Given the description of an element on the screen output the (x, y) to click on. 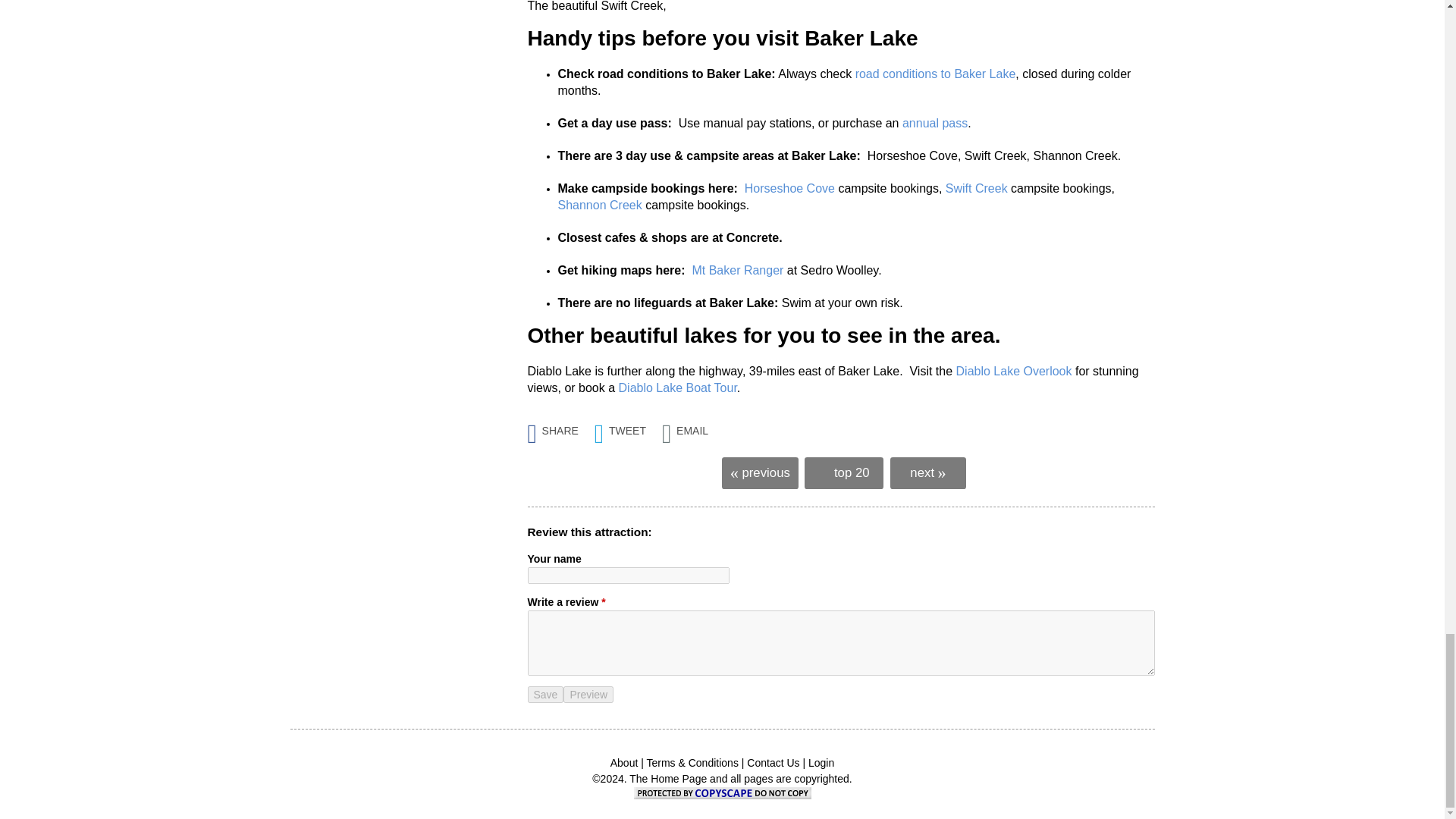
Save (545, 694)
Preview (587, 694)
